Given the description of an element on the screen output the (x, y) to click on. 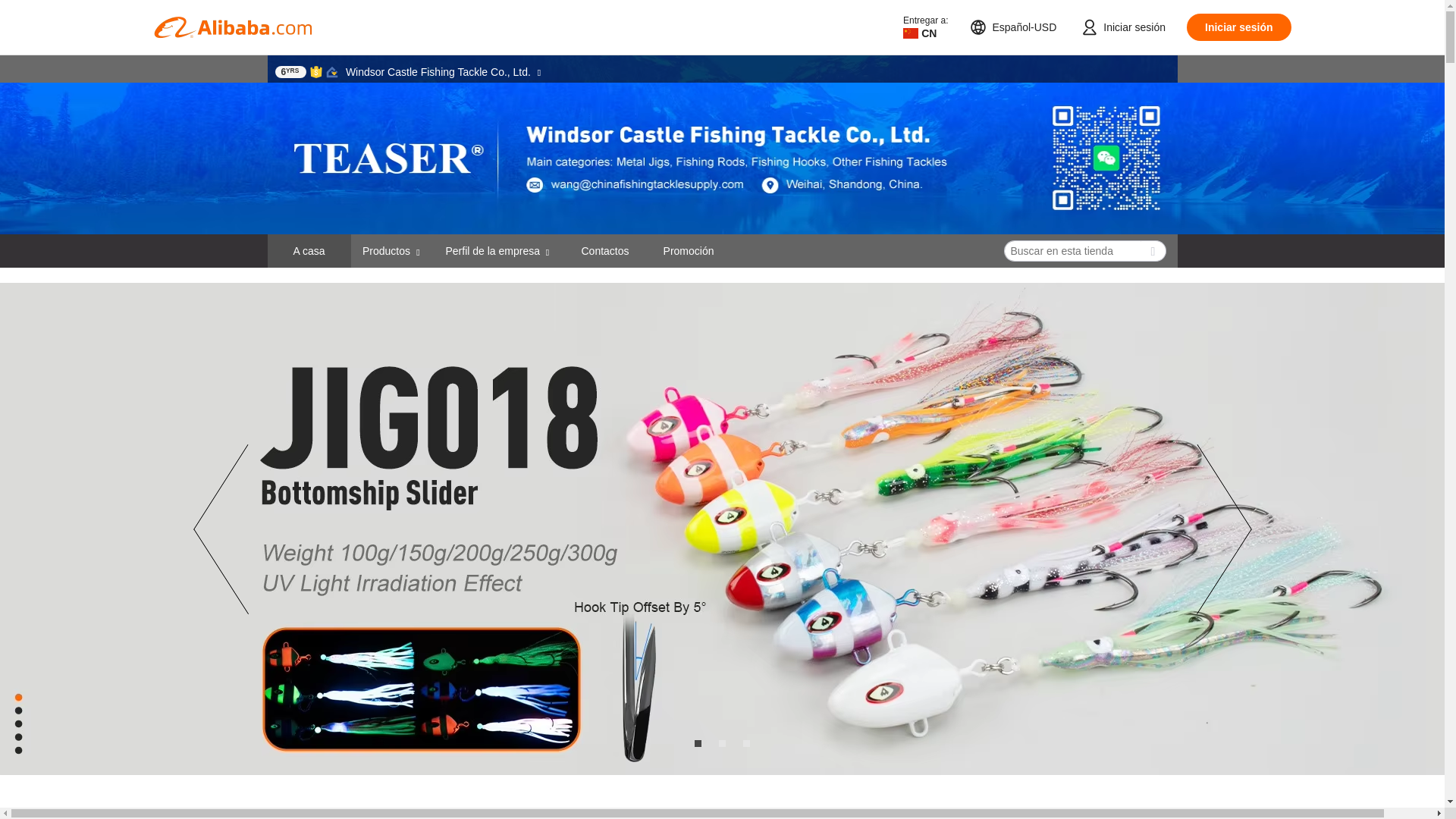
A casa (308, 250)
A casa (309, 250)
6YRS (290, 71)
Productos (391, 250)
What is Gold Supplier? (290, 71)
Productos (386, 250)
